Given the description of an element on the screen output the (x, y) to click on. 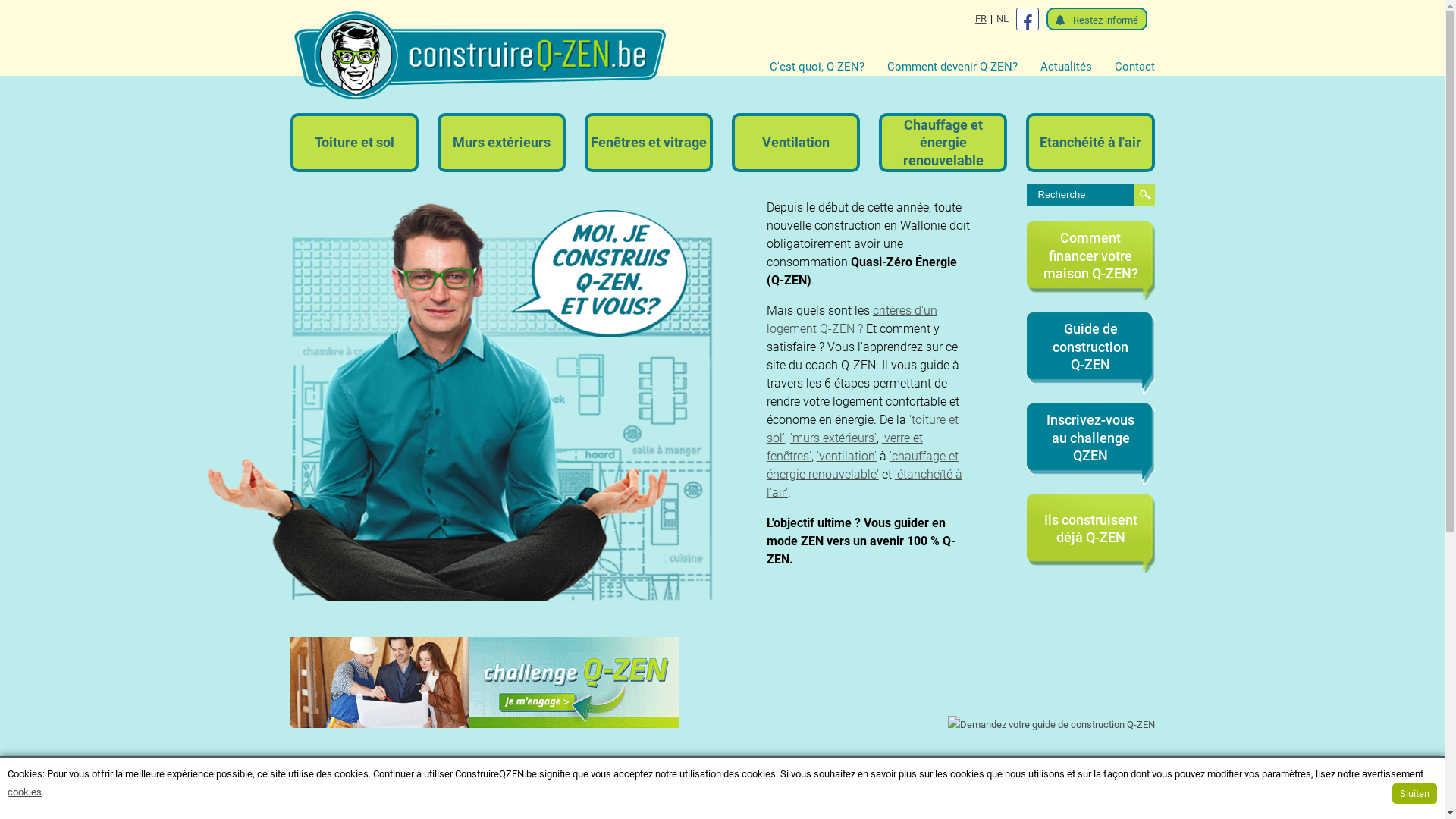
Contact Element type: text (1134, 66)
cookies Element type: text (24, 791)
Sluiten Element type: text (1414, 793)
Comment devenir Q-ZEN? Element type: text (963, 66)
Ventilation Element type: text (795, 142)
Toiture et sol Element type: text (354, 142)
'ventilation' Element type: text (846, 455)
Comment financer votre maison Q-ZEN? Element type: text (1090, 255)
FR Element type: text (980, 18)
'toiture et sol' Element type: text (862, 428)
C'est quoi, Q-ZEN? Element type: text (827, 66)
Guide de construction
Q-ZEN Element type: text (1090, 346)
Inscrivez-vous au challenge QZEN Element type: text (1090, 437)
NL Element type: text (1002, 18)
